Given the description of an element on the screen output the (x, y) to click on. 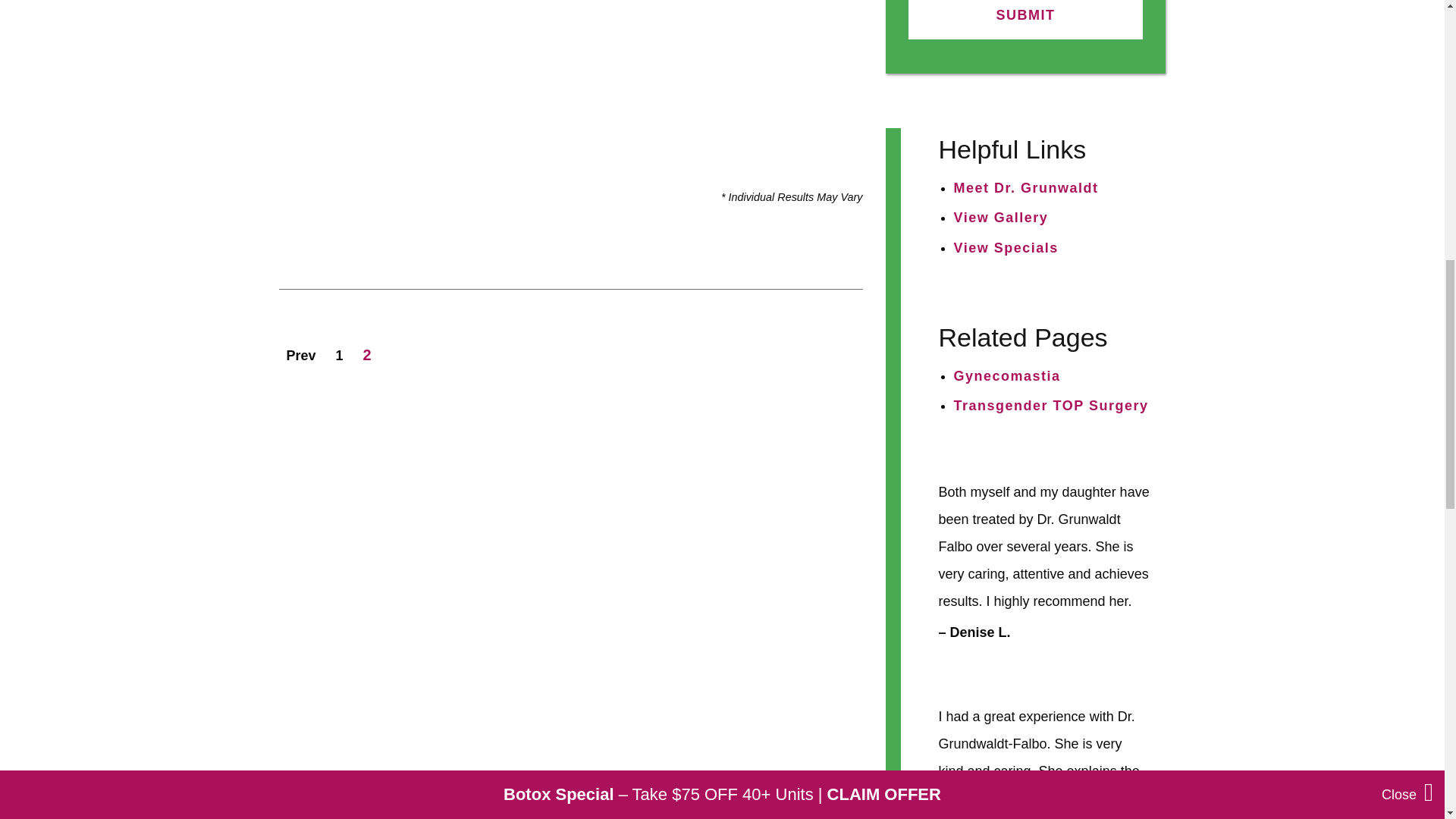
Submit (1025, 19)
